Given the description of an element on the screen output the (x, y) to click on. 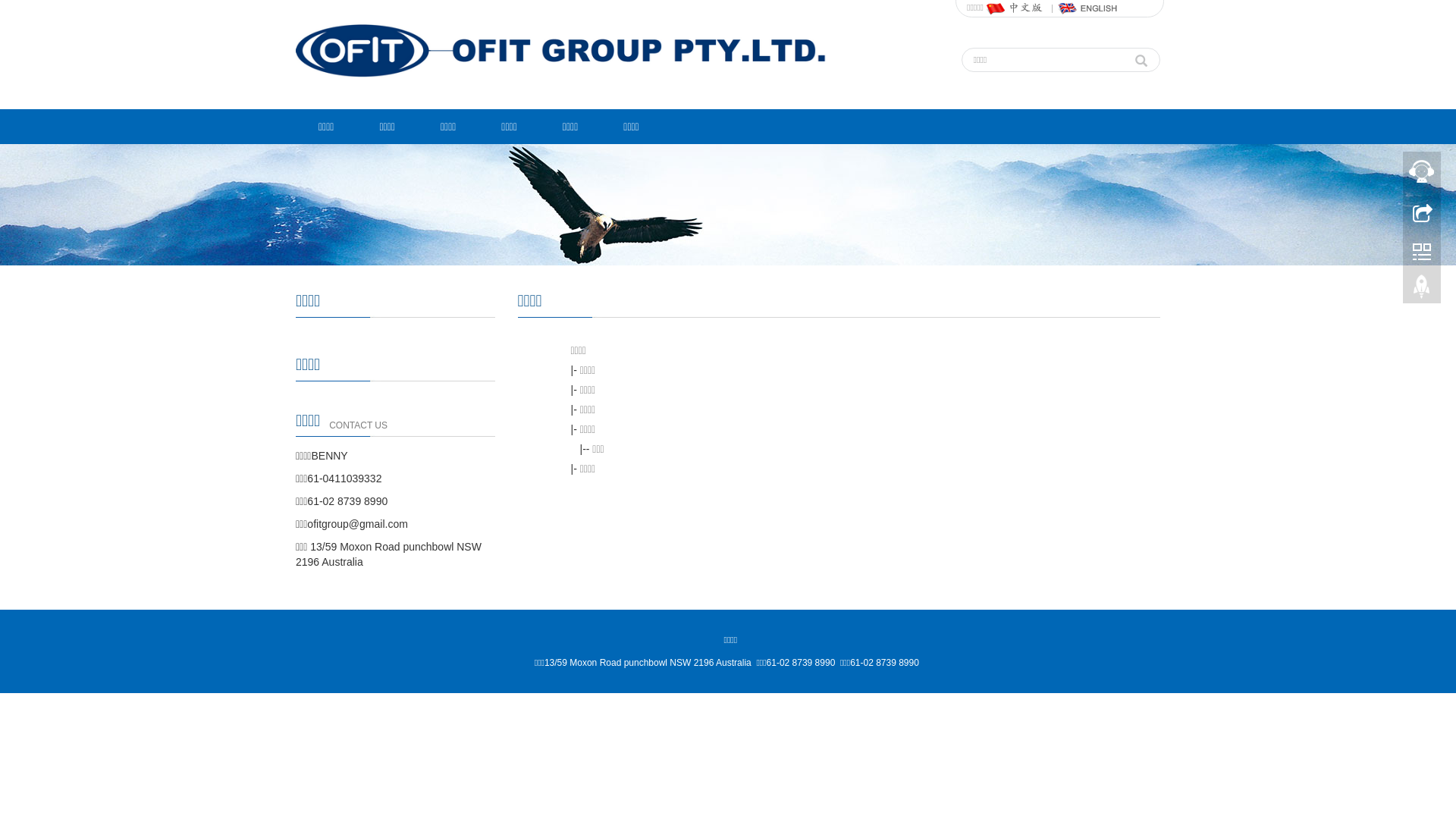
English Element type: hover (1087, 7)
